Given the description of an element on the screen output the (x, y) to click on. 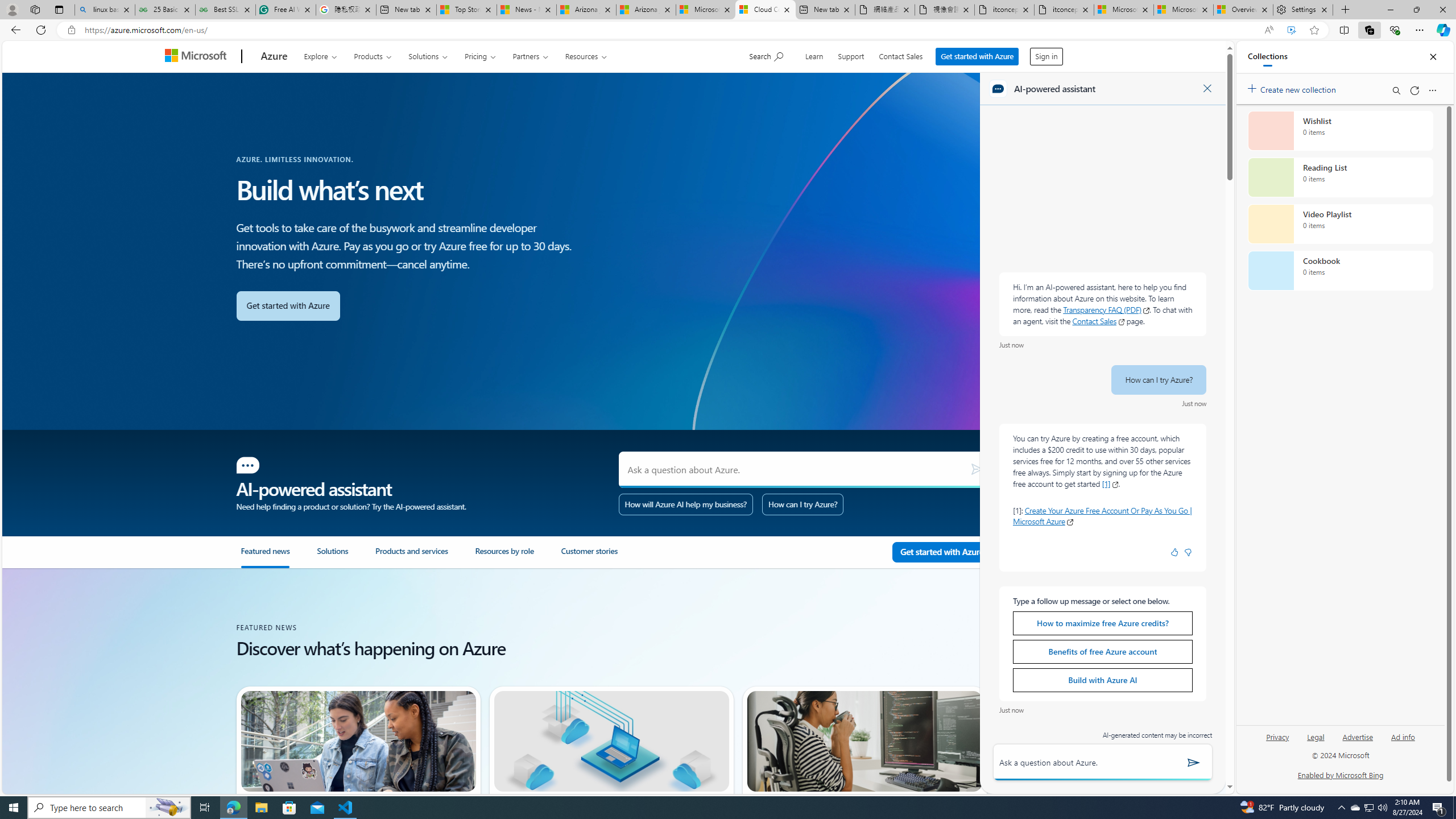
Products and services (425, 556)
Get started with Azure (977, 56)
Send (1192, 762)
Customer stories (603, 556)
Ask a question about Azure. (804, 469)
Negative feedback badge icon (1187, 552)
Contact Sales Opens in a new window; external. (1098, 320)
Reading List collection, 0 items (1339, 177)
Create new collection (1293, 87)
25 Basic Linux Commands For Beginners - GeeksforGeeks (164, 9)
Cloud Computing Services | Microsoft Azure (765, 9)
itconcepthk.com/projector_solutions.mp4 (1064, 9)
